Given the description of an element on the screen output the (x, y) to click on. 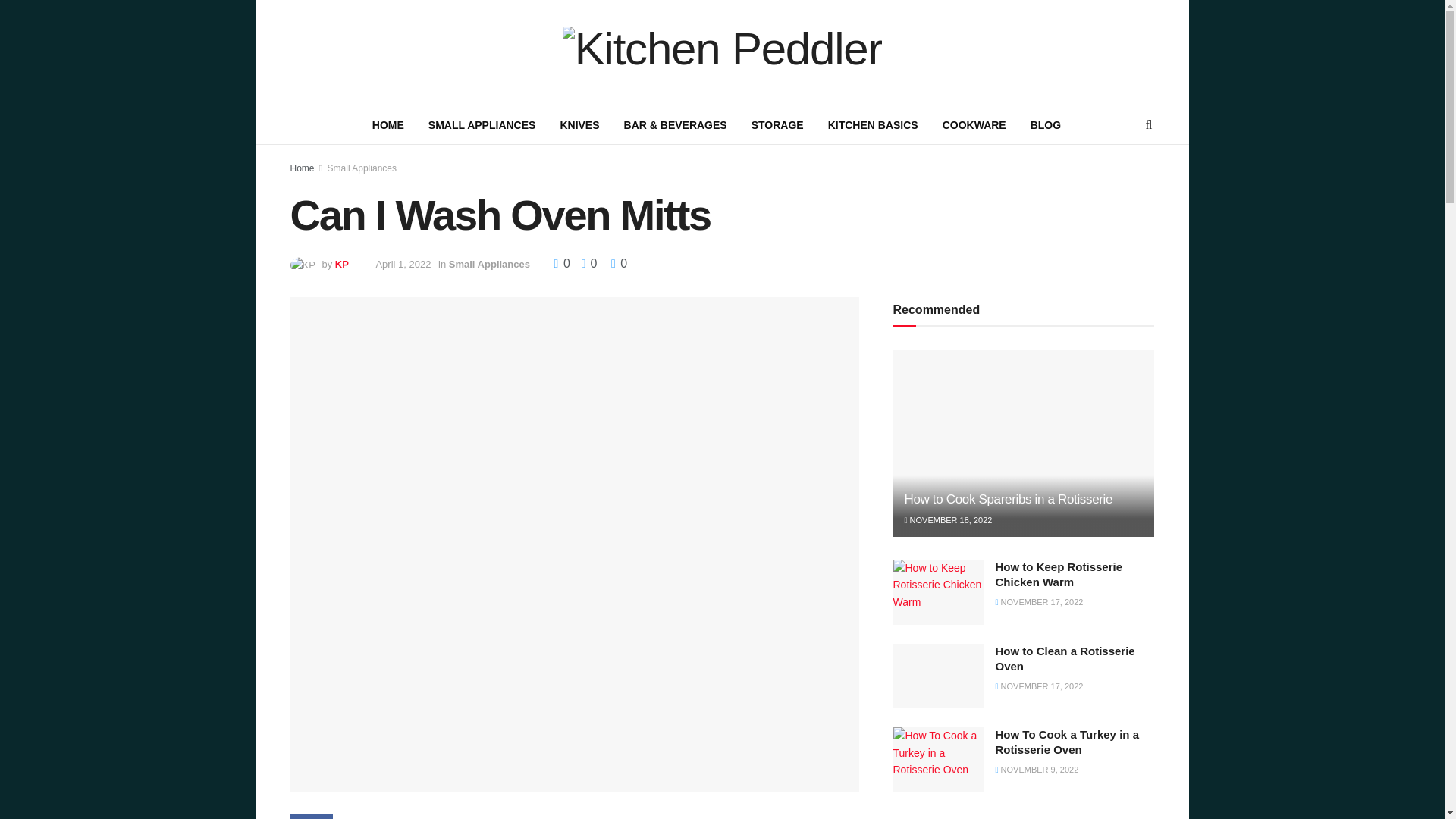
BLOG (1045, 125)
KNIVES (579, 125)
Home (301, 167)
SMALL APPLIANCES (482, 125)
HOME (387, 125)
KP (341, 264)
April 1, 2022 (402, 264)
STORAGE (777, 125)
0 (619, 263)
0 (563, 263)
